Given the description of an element on the screen output the (x, y) to click on. 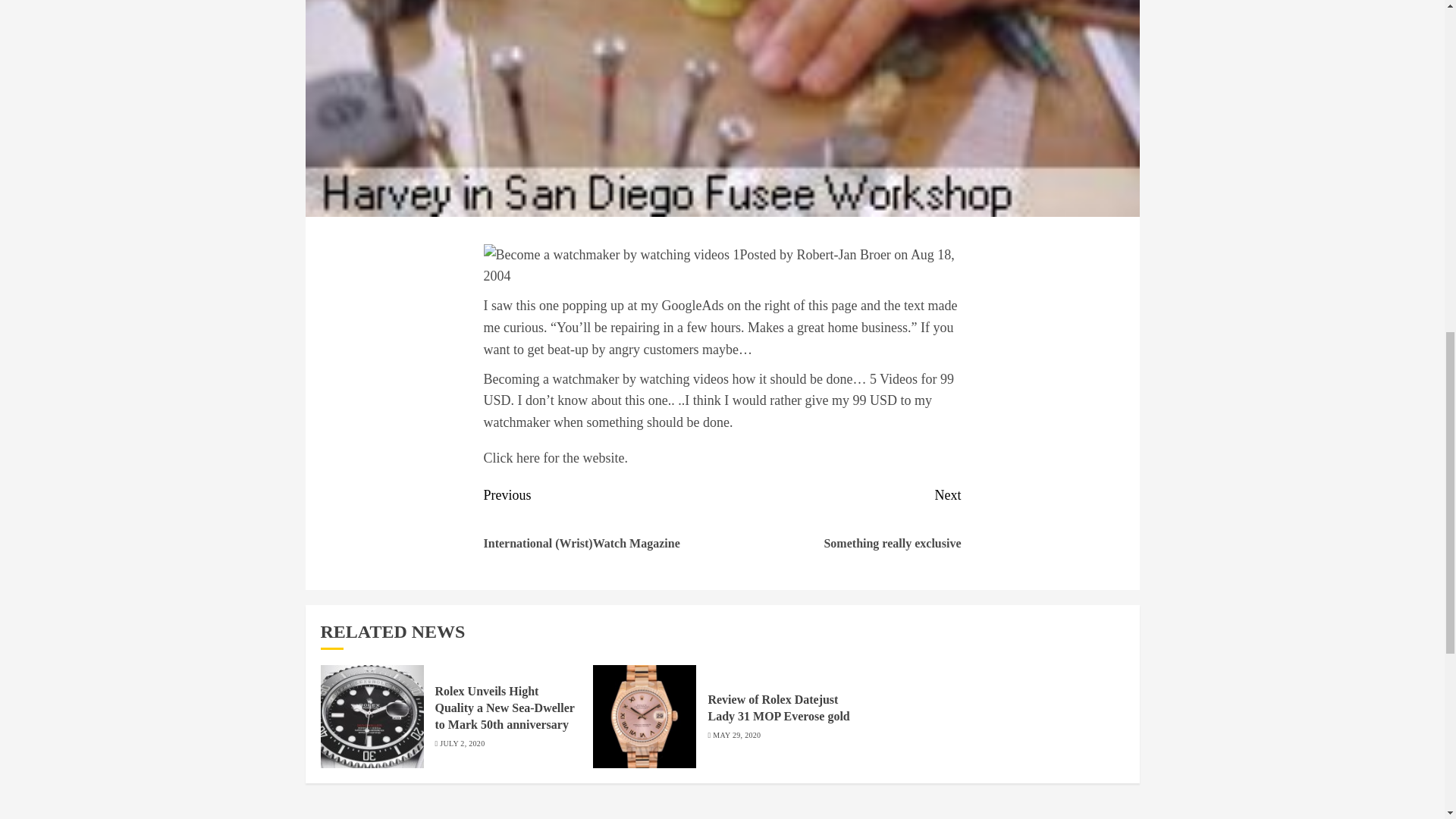
MAY 29, 2020 (736, 735)
Review of Rolex Datejust Lady 31 MOP Everose gold (777, 707)
JULY 2, 2020 (461, 743)
